Given the description of an element on the screen output the (x, y) to click on. 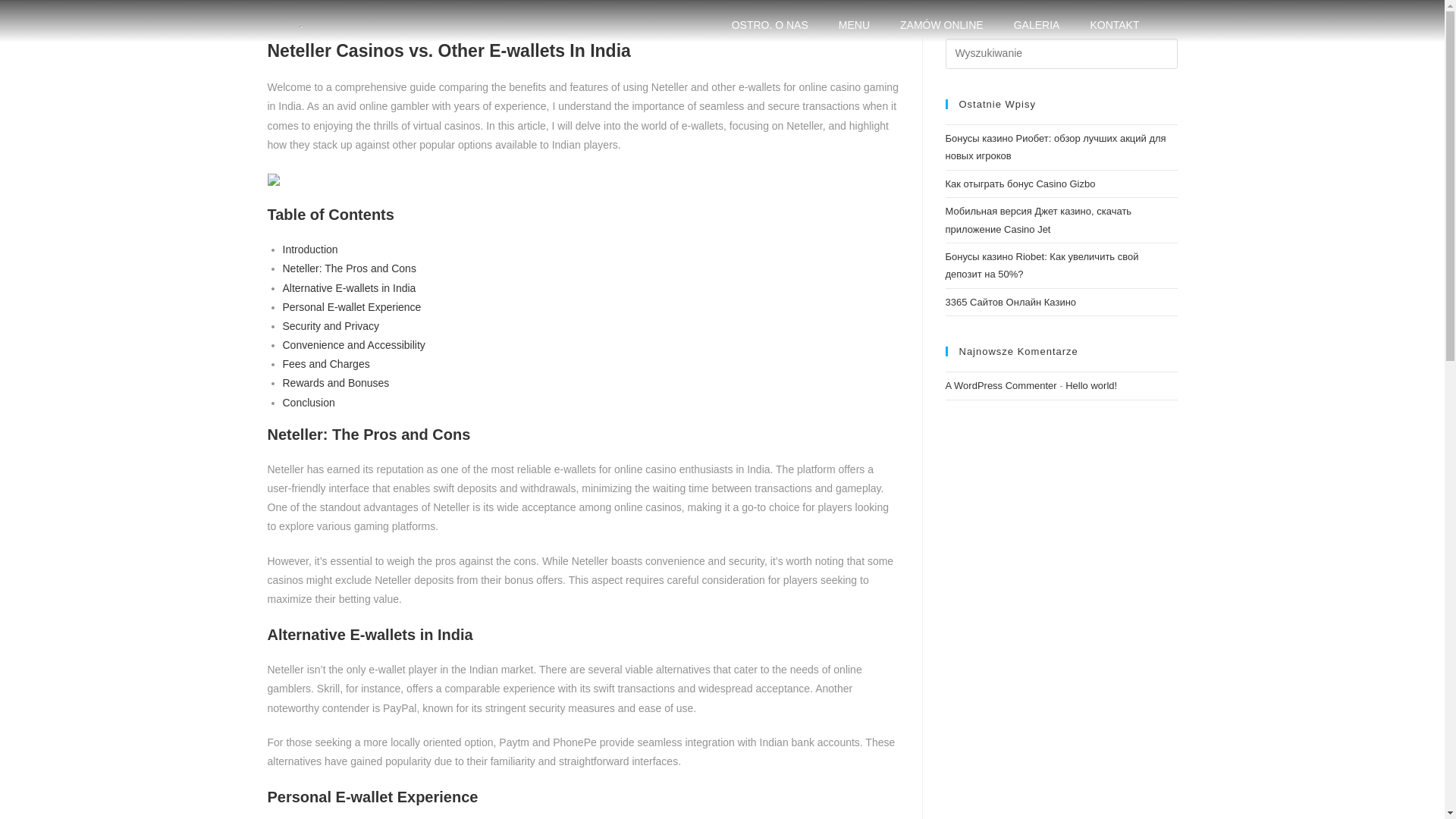
Rewards and Bonuses (335, 382)
MENU (854, 24)
GALERIA (1036, 24)
Hello world! (1090, 385)
Neteller: The Pros and Cons (348, 268)
Alternative E-wallets in India (348, 287)
Conclusion (308, 402)
Introduction (309, 249)
Security and Privacy (330, 326)
KONTAKT (1114, 24)
Convenience and Accessibility (353, 345)
A WordPress Commenter (1000, 385)
Fees and Charges (325, 363)
Personal E-wallet Experience (351, 306)
OSTRO. O NAS (770, 24)
